Given the description of an element on the screen output the (x, y) to click on. 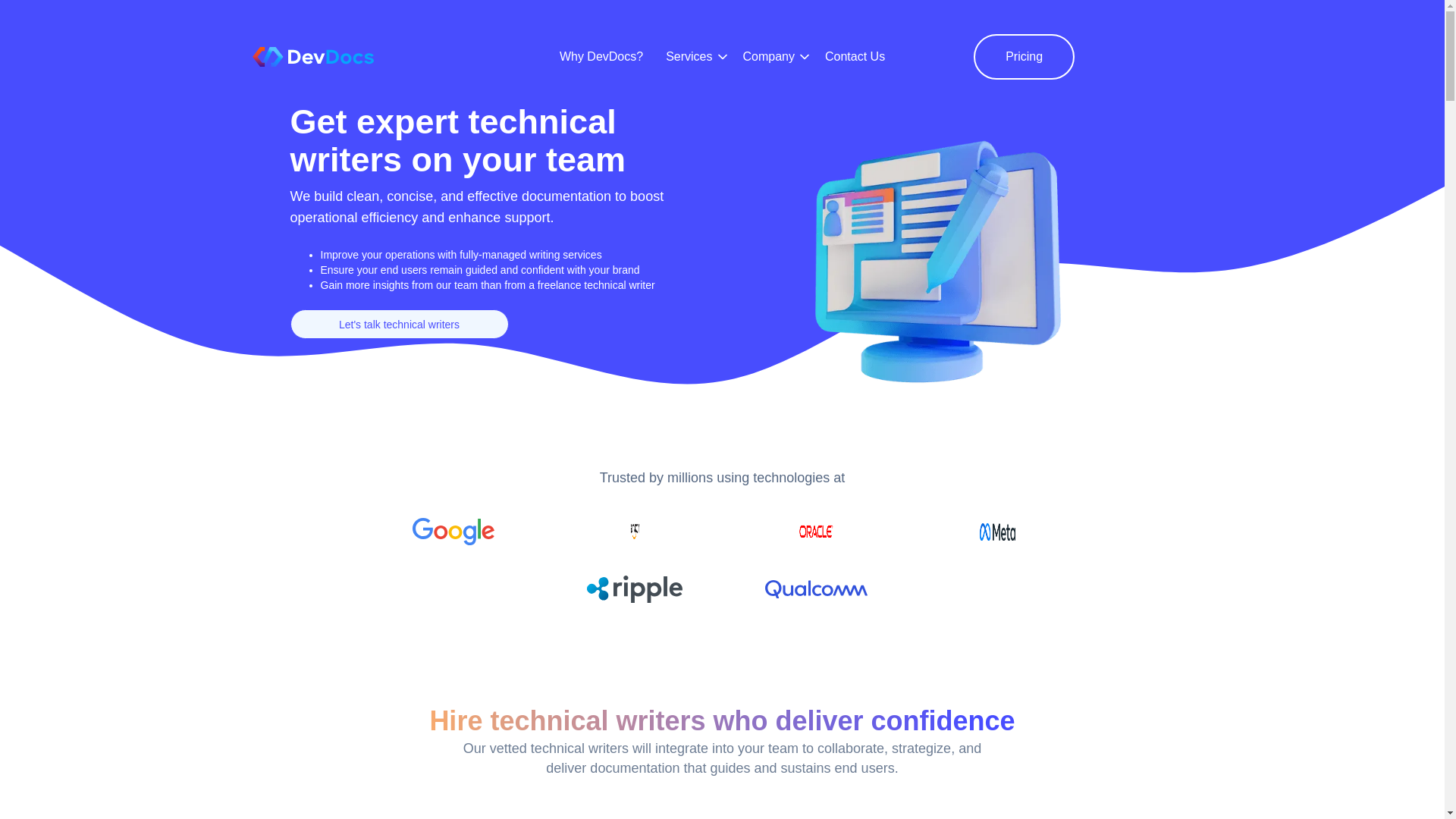
Pricing (1024, 56)
Why DevDocs? (600, 56)
Let's talk technical writers (398, 324)
Contact Us (854, 56)
